Given the description of an element on the screen output the (x, y) to click on. 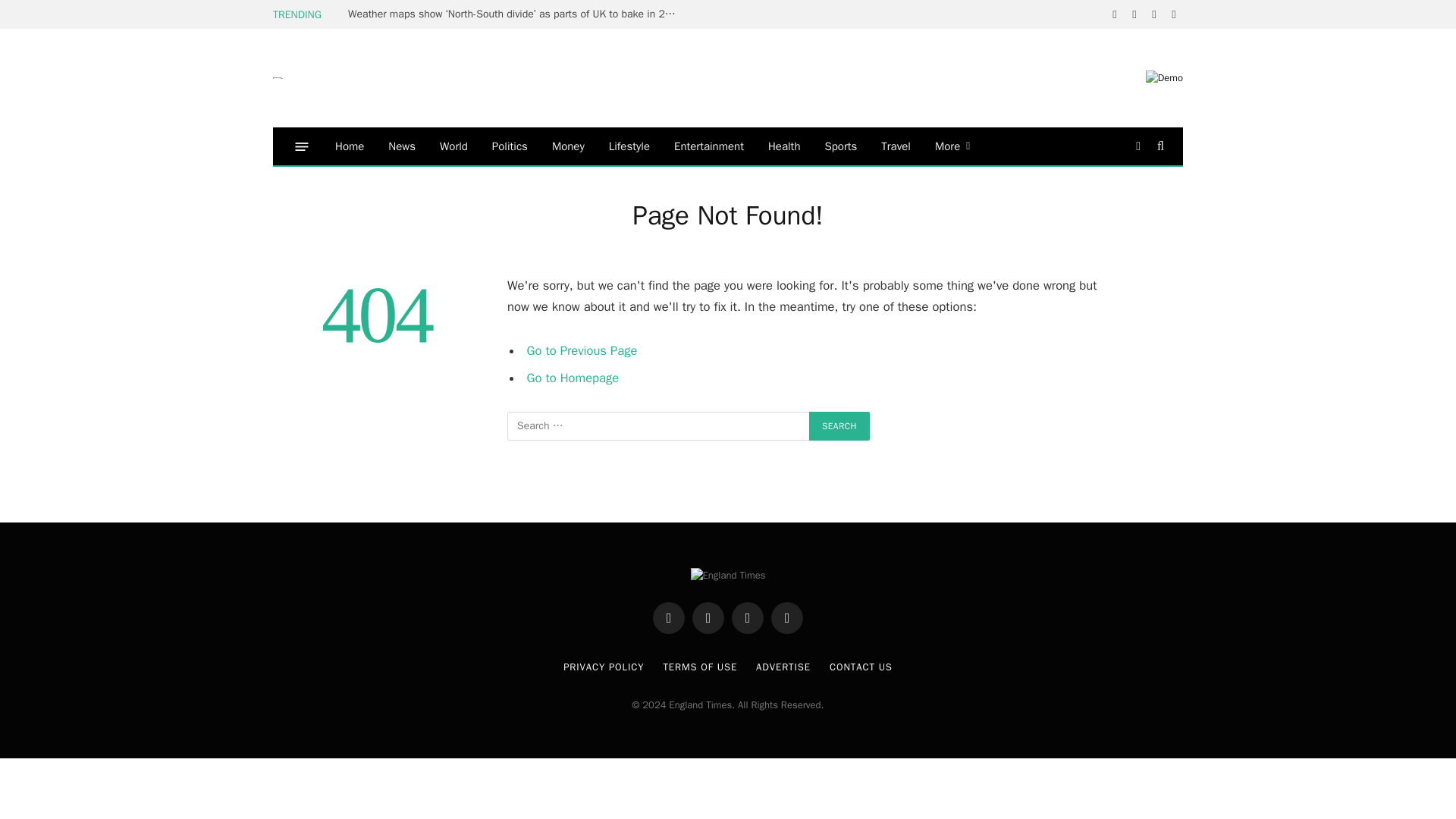
Search (839, 425)
Switch to Dark Design - easier on eyes. (1138, 146)
Search (839, 425)
